Given the description of an element on the screen output the (x, y) to click on. 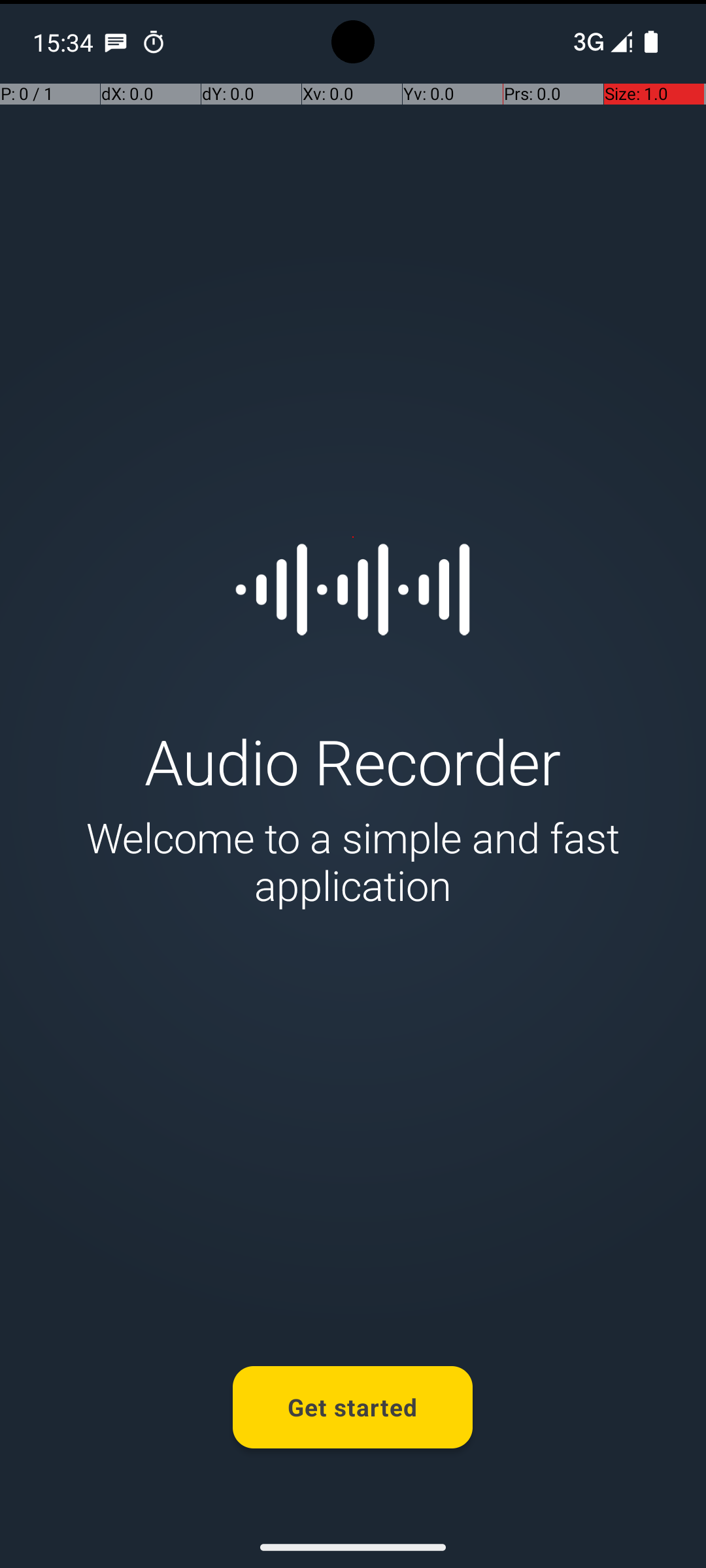
SMS Messenger notification: Freya Hernandez Element type: android.widget.ImageView (115, 41)
